Given the description of an element on the screen output the (x, y) to click on. 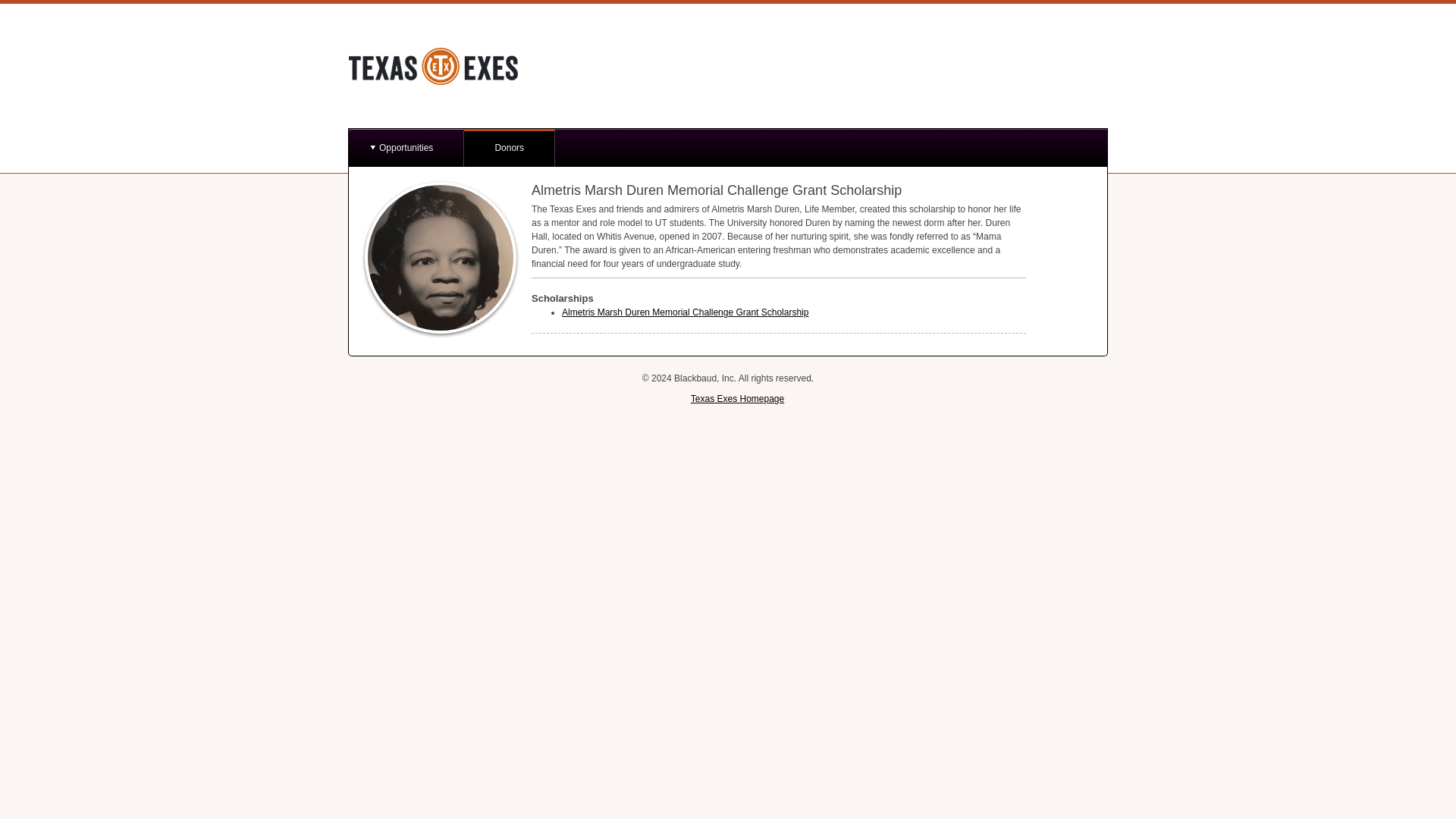
Texas Exes Scholarships (453, 67)
translation missing: en.applicant.donors.scholarships (562, 297)
Texas Exes Homepage (737, 398)
Opportunities (406, 147)
Almetris Marsh Duren Memorial Challenge Grant Scholarship (685, 312)
Donors (509, 147)
